Given the description of an element on the screen output the (x, y) to click on. 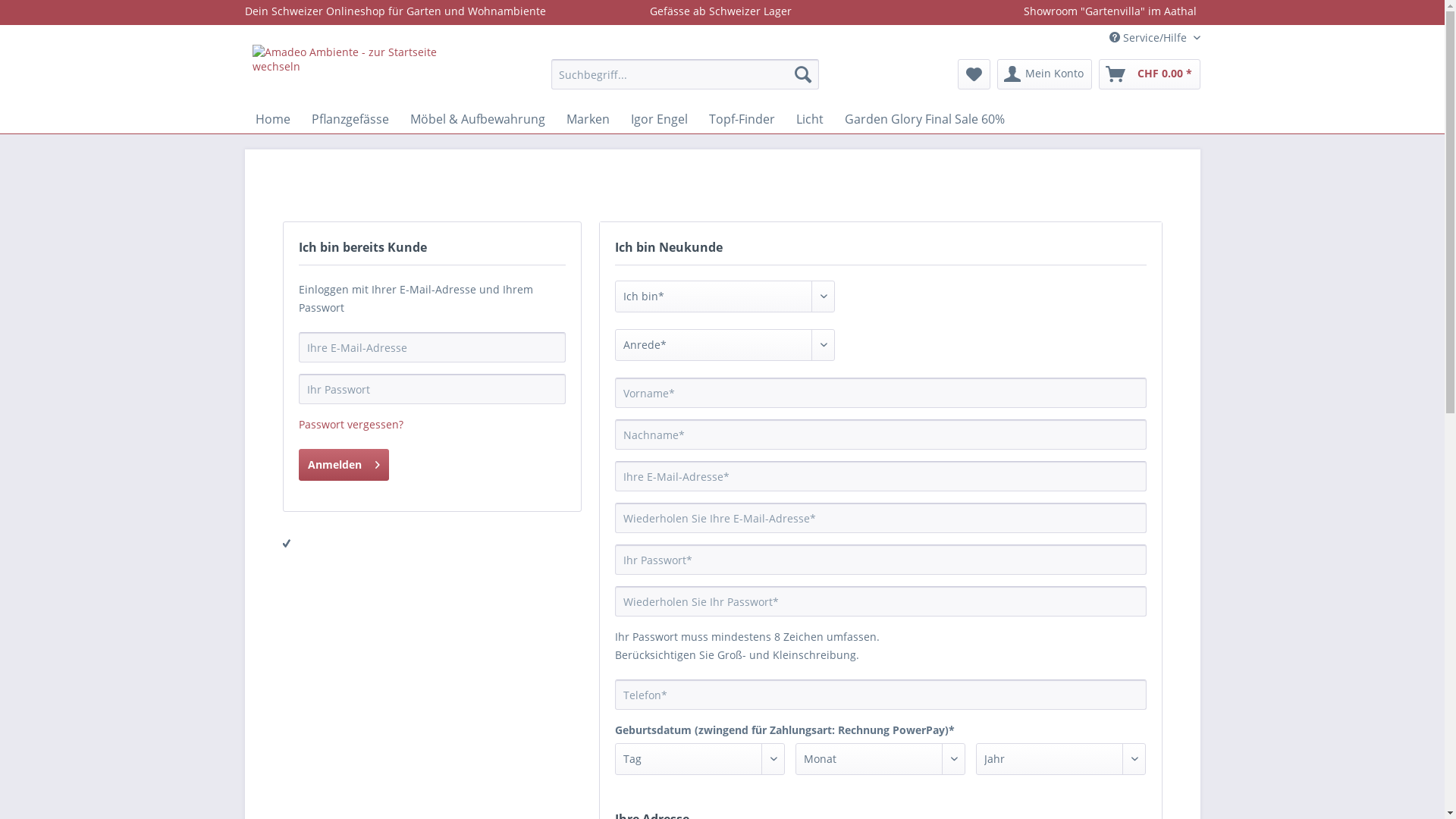
Licht Element type: text (809, 118)
Topf-Finder Element type: text (740, 118)
Amadeo Ambiente - zur Startseite wechseln Element type: hover (365, 75)
Igor Engel Element type: text (659, 118)
CHF 0.00 * Element type: text (1148, 74)
Mein Konto Element type: text (1043, 74)
Passwort vergessen? Element type: text (350, 424)
Home Element type: text (272, 118)
Marken Element type: text (587, 118)
Merkzettel Element type: hover (973, 74)
Anmelden Element type: text (343, 464)
Garden Glory Final Sale 60% Element type: text (924, 118)
